Given the description of an element on the screen output the (x, y) to click on. 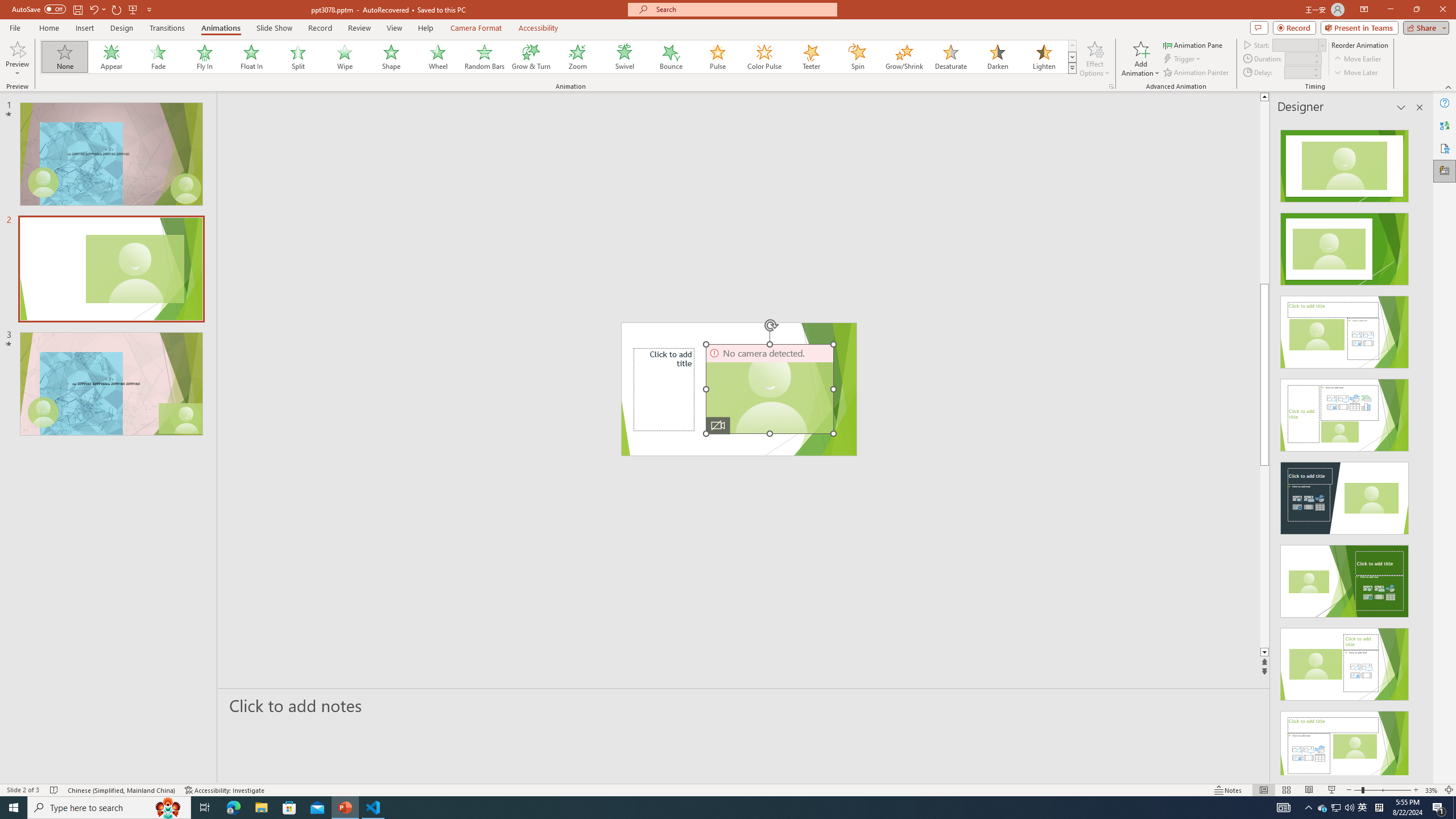
Pulse (717, 56)
Trigger (1182, 58)
Add Animation (1141, 58)
Teeter (810, 56)
